Given the description of an element on the screen output the (x, y) to click on. 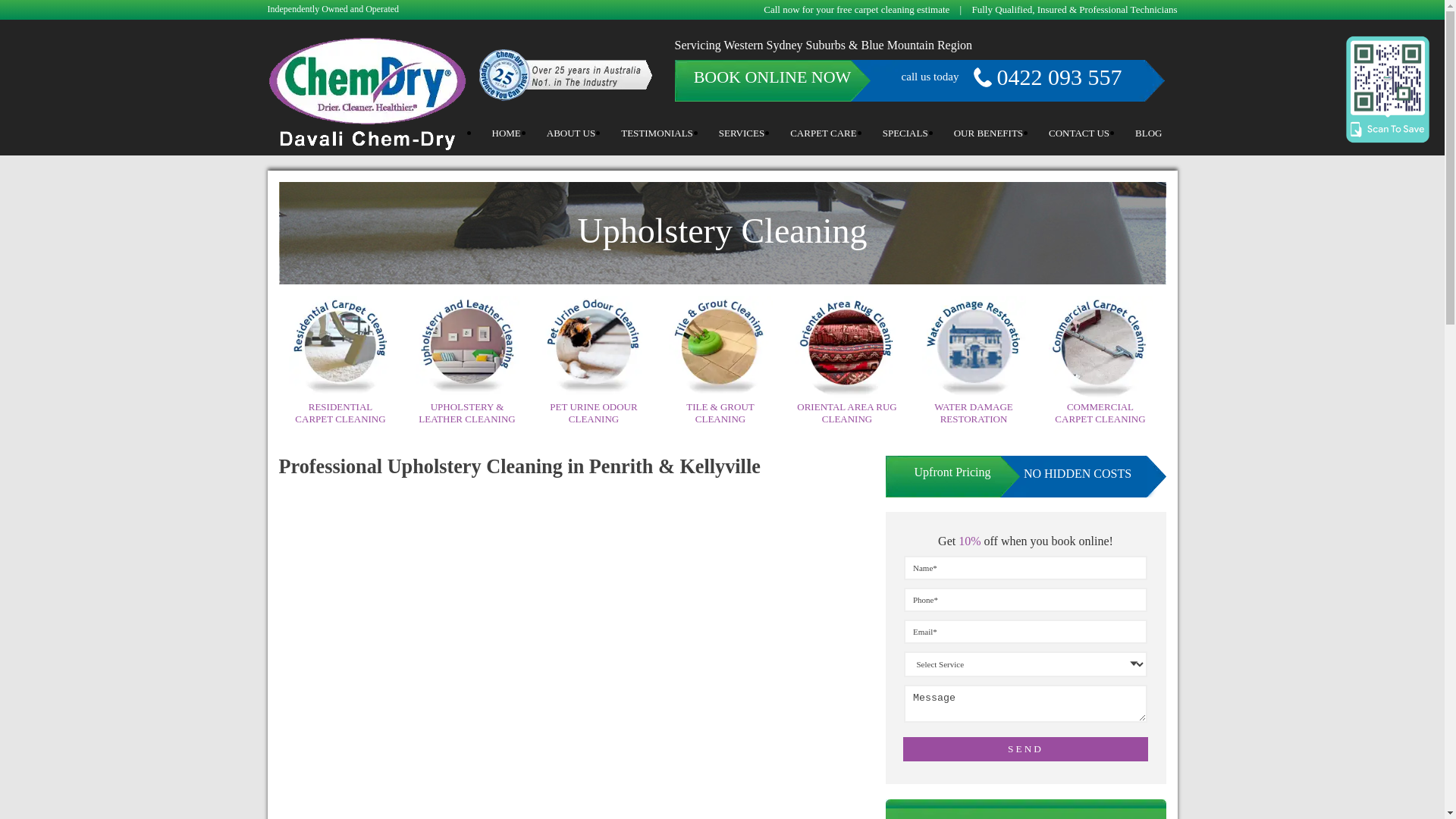
TILE & GROUT CLEANING Element type: text (720, 412)
UPHOLSTERY & LEATHER CLEANING Element type: text (466, 412)
HOME Element type: text (506, 134)
CARPET CARE Element type: text (823, 134)
call us today0422 093 557 Element type: text (994, 75)
WATER DAMAGE RESTORATION Element type: text (973, 412)
COMMERCIAL CARPET CLEANING Element type: text (1099, 412)
BLOG Element type: text (1148, 134)
RESIDENTIAL CARPET CLEANING Element type: text (339, 412)
SERVICES Element type: text (741, 134)
OUR BENEFITS Element type: text (988, 134)
TESTIMONIALS Element type: text (657, 134)
CONTACT US Element type: text (1078, 134)
SPECIALS Element type: text (905, 134)
ChemDry Element type: hover (366, 147)
ABOUT US Element type: text (570, 134)
ORIENTAL AREA RUG CLEANING Element type: text (846, 412)
PET URINE ODOUR CLEANING Element type: text (593, 412)
SEND Element type: text (1025, 749)
